Given the description of an element on the screen output the (x, y) to click on. 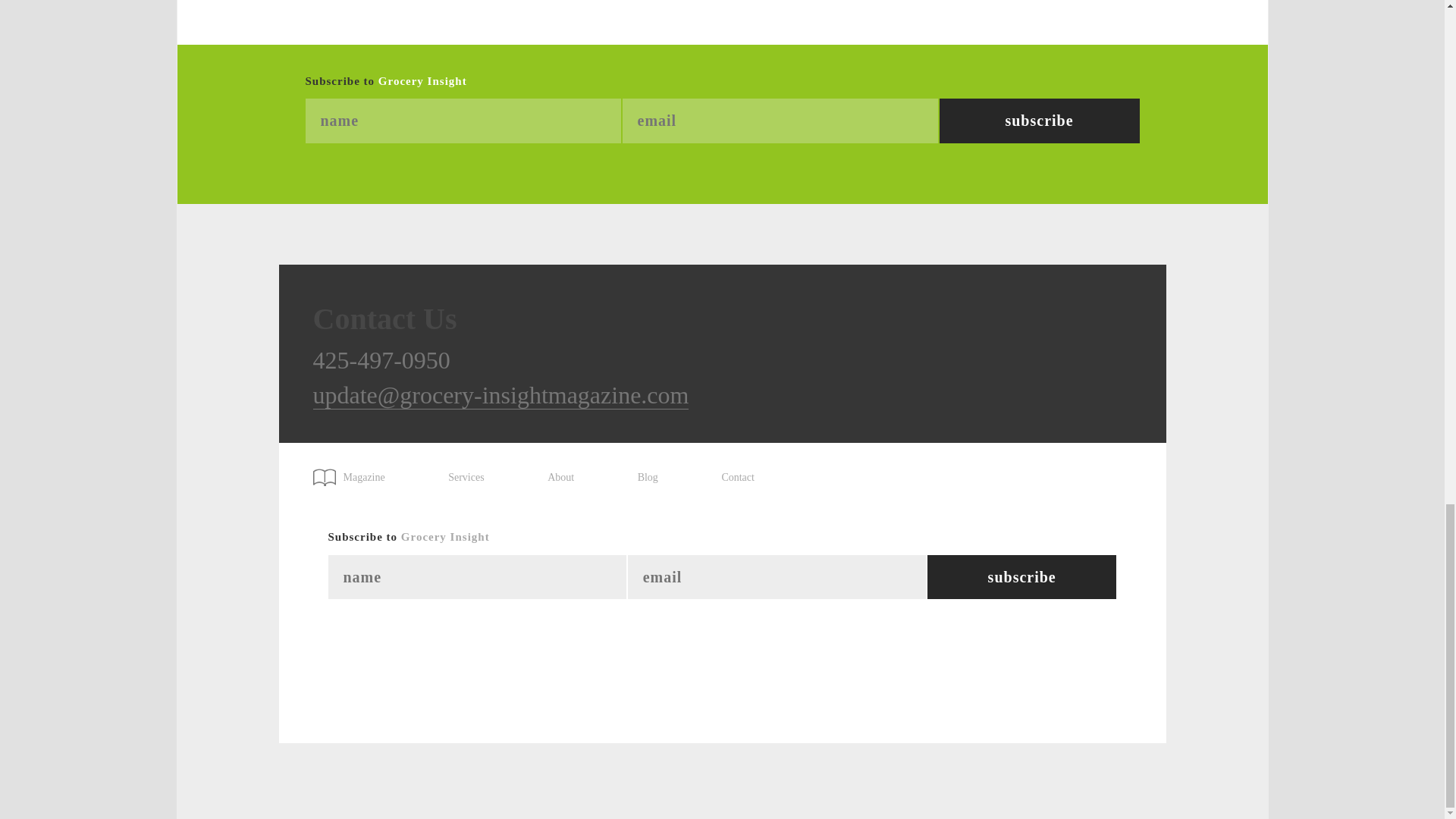
Services (465, 477)
About (560, 477)
Subscribe (1038, 120)
Subscribe (1038, 120)
Magazine (355, 471)
Subscribe (1021, 577)
Blog (647, 477)
Subscribe (1021, 577)
Contact (737, 477)
